Given the description of an element on the screen output the (x, y) to click on. 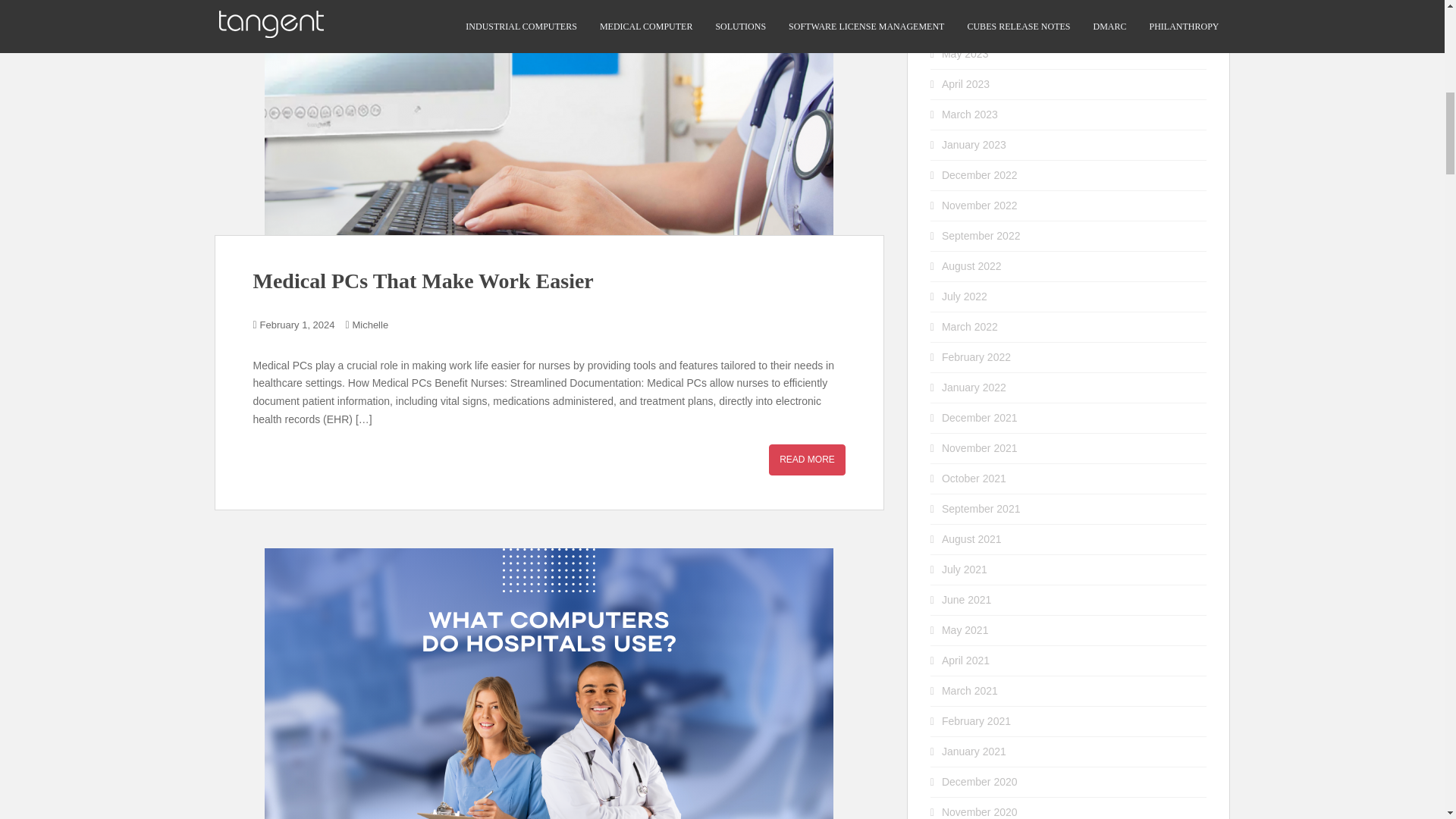
READ MORE (806, 459)
February 1, 2024 (297, 324)
Michelle (370, 324)
Medical PCs That Make Work Easier (423, 280)
Medical PCs That Make Work Easier (806, 459)
